Given the description of an element on the screen output the (x, y) to click on. 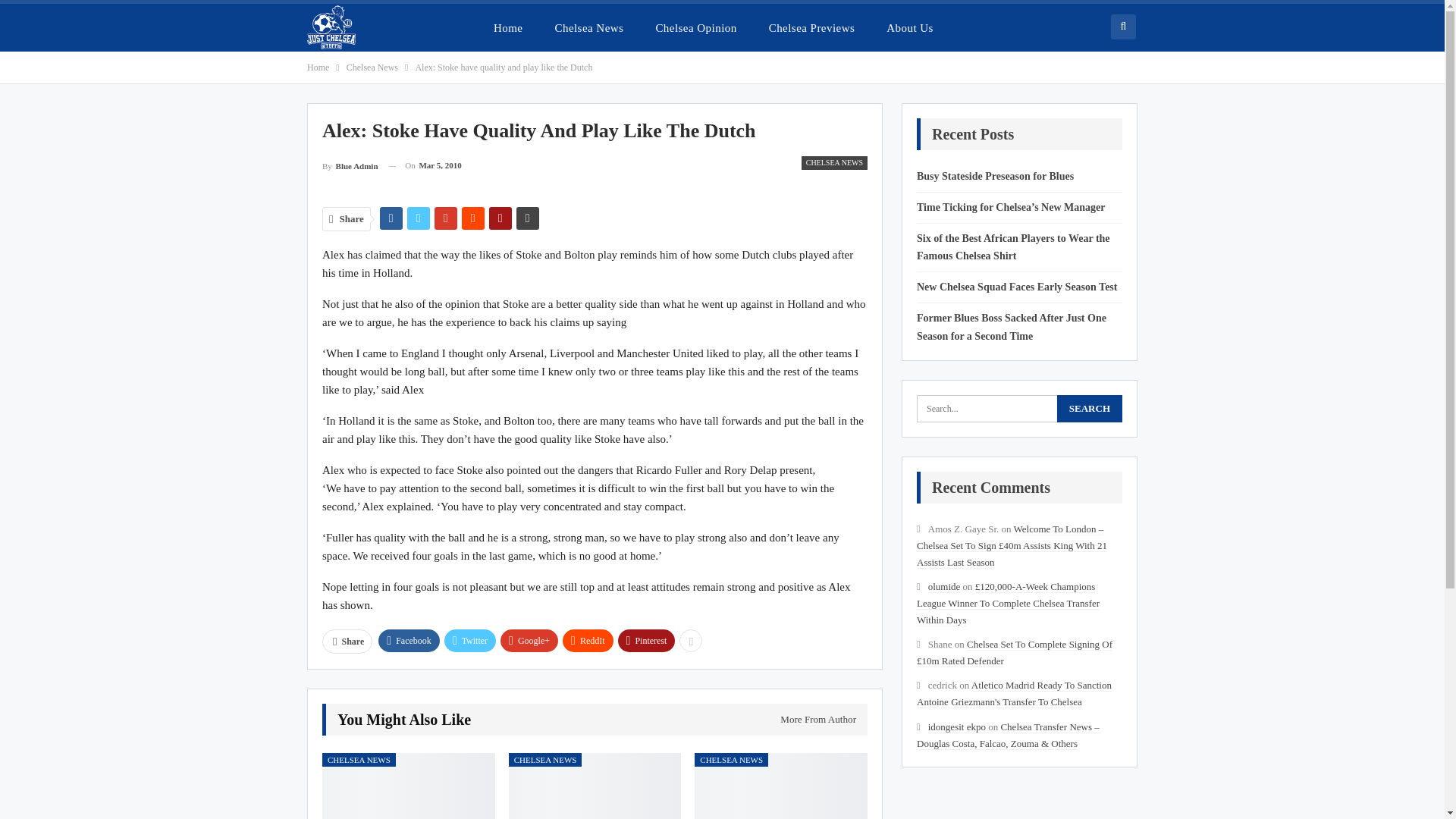
CHELSEA NEWS (834, 162)
Home (318, 67)
CHELSEA NEWS (358, 759)
About Us (909, 27)
Pinterest (646, 640)
Facebook (408, 640)
Busy Stateside Preseason for Blues (408, 785)
Search (1089, 408)
You Might Also Like (403, 720)
By Blue Admin (349, 165)
